Given the description of an element on the screen output the (x, y) to click on. 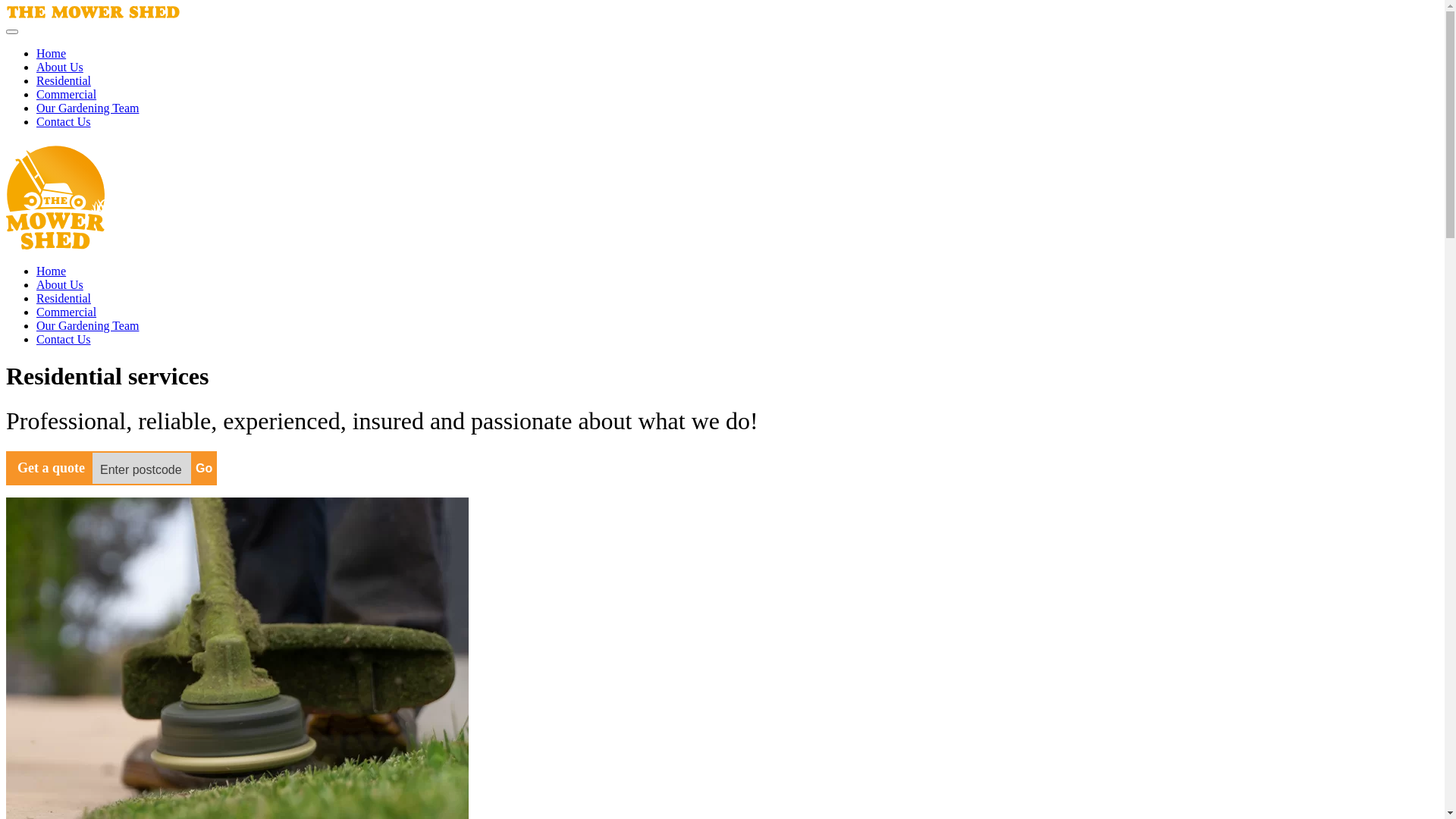
Contact Us Element type: text (63, 338)
Commercial Element type: text (66, 311)
Contact Us Element type: text (63, 121)
About Us Element type: text (59, 284)
About Us Element type: text (59, 66)
Go Element type: text (203, 467)
Home Element type: text (50, 53)
Home Element type: text (50, 270)
Commercial Element type: text (66, 93)
Residential Element type: text (63, 80)
Residential Element type: text (63, 297)
Our Gardening Team Element type: text (87, 107)
Our Gardening Team Element type: text (87, 325)
